Given the description of an element on the screen output the (x, y) to click on. 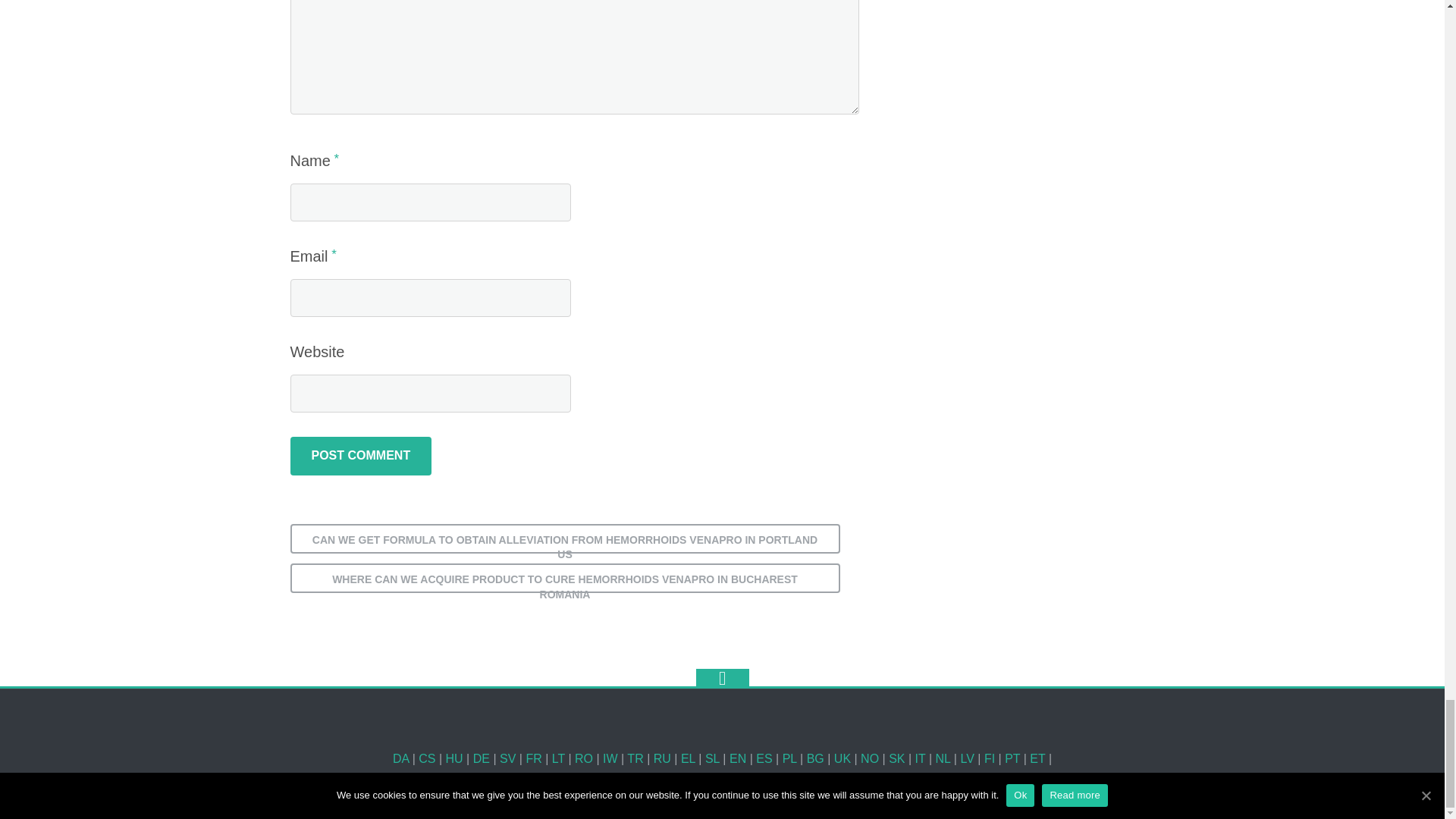
CS (427, 758)
Post Comment (359, 455)
Post Comment (359, 455)
DA (401, 758)
